Given the description of an element on the screen output the (x, y) to click on. 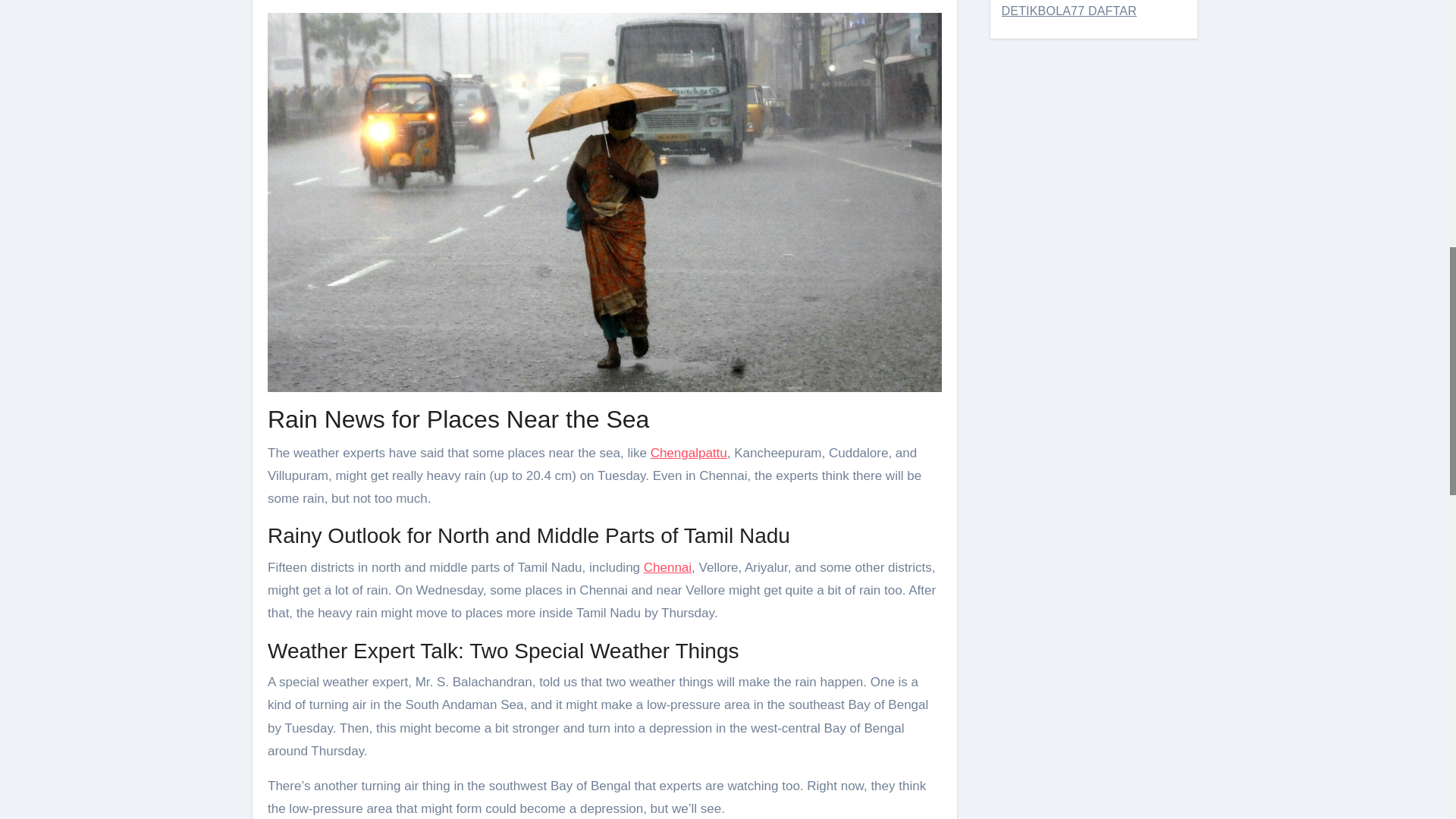
Chennai (667, 567)
Chengalpattu (688, 452)
